Given the description of an element on the screen output the (x, y) to click on. 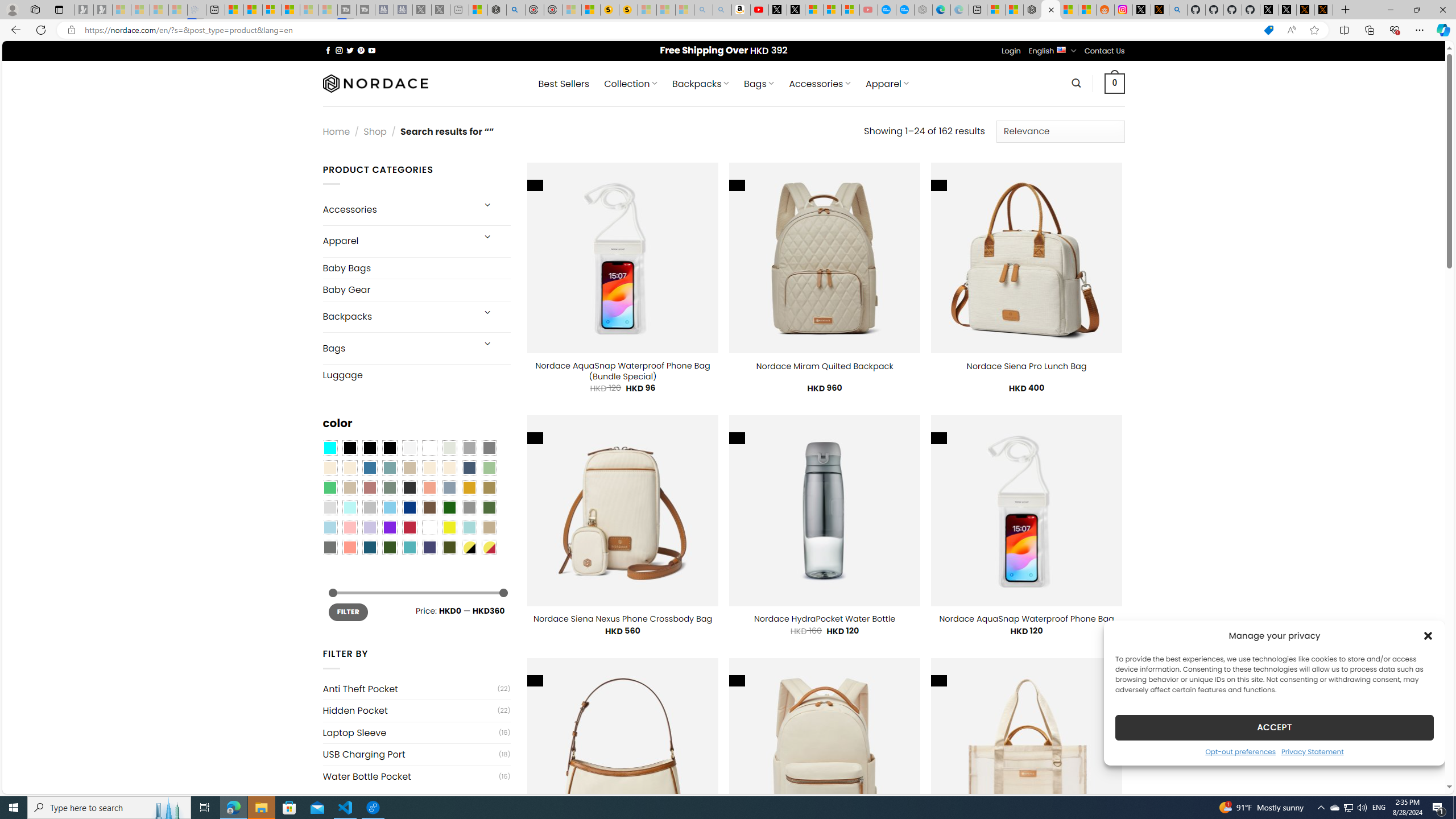
Purple Navy (429, 547)
USB Charging Port (410, 754)
Clear (429, 447)
Blue (369, 467)
Cream (449, 467)
